Given the description of an element on the screen output the (x, y) to click on. 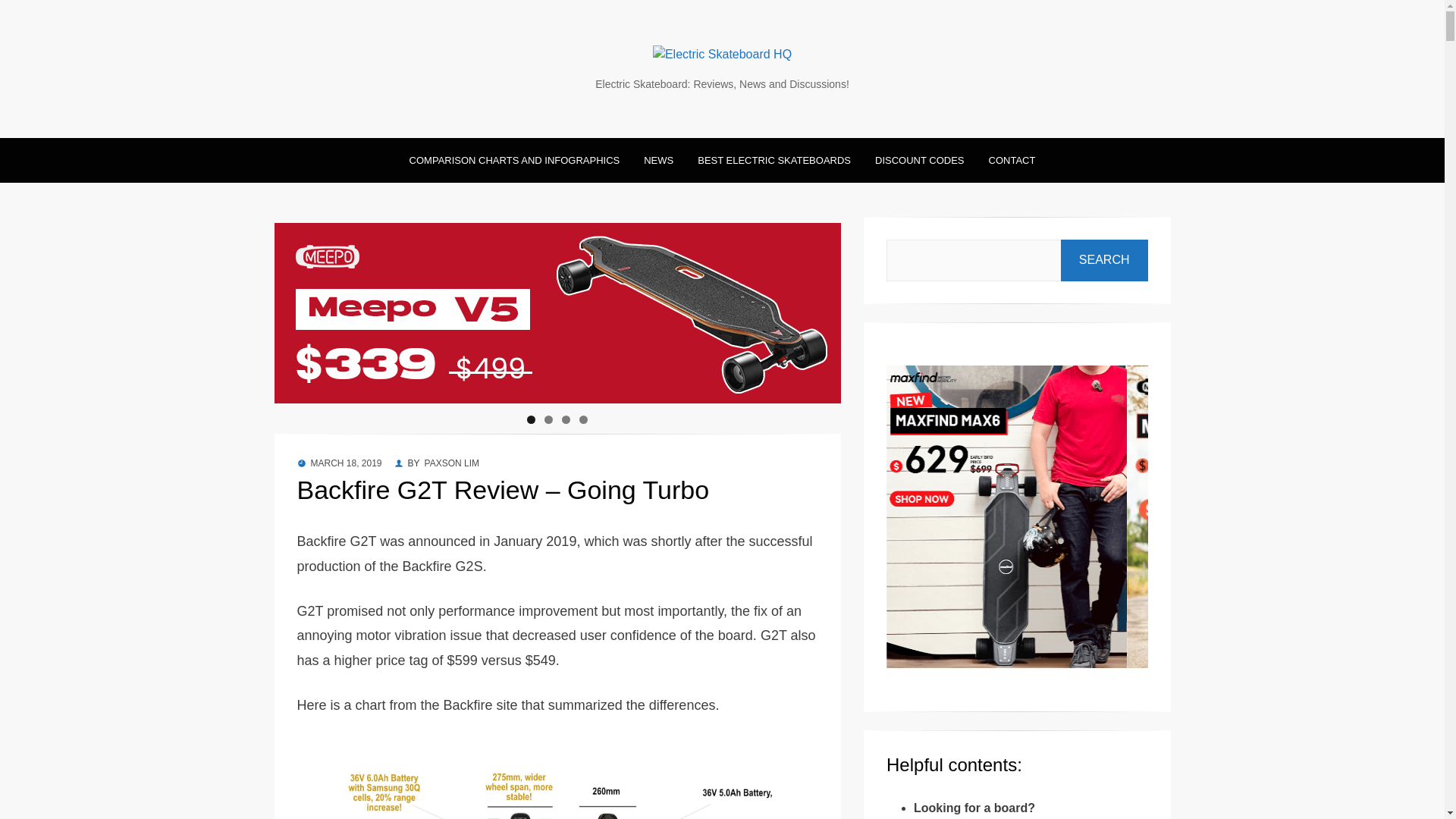
CONTACT (999, 160)
PAXSON LIM (452, 462)
4 (583, 419)
COMPARISON CHARTS AND INFOGRAPHICS (514, 160)
1 (531, 419)
Wowgo-Header-Ad-May-24 (137, 312)
3 (566, 419)
2 (548, 419)
DISCOUNT CODES (906, 160)
Meepo-Xmas-Banner-1 (561, 312)
BEST ELECTRIC SKATEBOARDS (761, 160)
MARCH 18, 2019 (346, 463)
NEWS (646, 160)
